Given the description of an element on the screen output the (x, y) to click on. 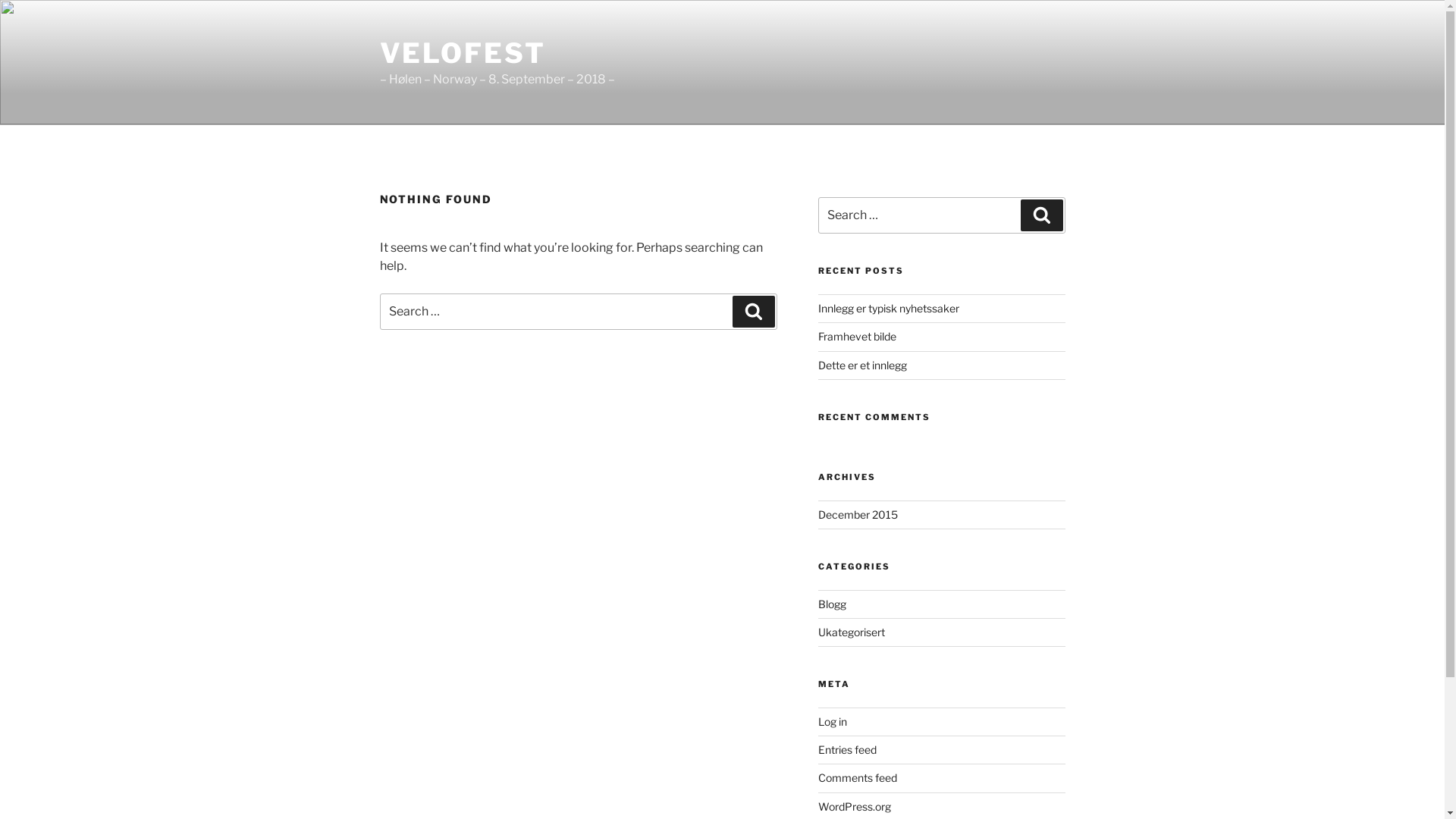
Search Element type: text (753, 311)
Comments feed Element type: text (857, 777)
Blogg Element type: text (832, 603)
Innlegg er typisk nyhetssaker Element type: text (888, 307)
VELOFEST Element type: text (462, 52)
Dette er et innlegg Element type: text (862, 364)
Ukategorisert Element type: text (851, 631)
December 2015 Element type: text (857, 514)
Entries feed Element type: text (847, 749)
WordPress.org Element type: text (854, 806)
Search Element type: text (1041, 215)
Framhevet bilde Element type: text (857, 335)
Log in Element type: text (832, 721)
